Given the description of an element on the screen output the (x, y) to click on. 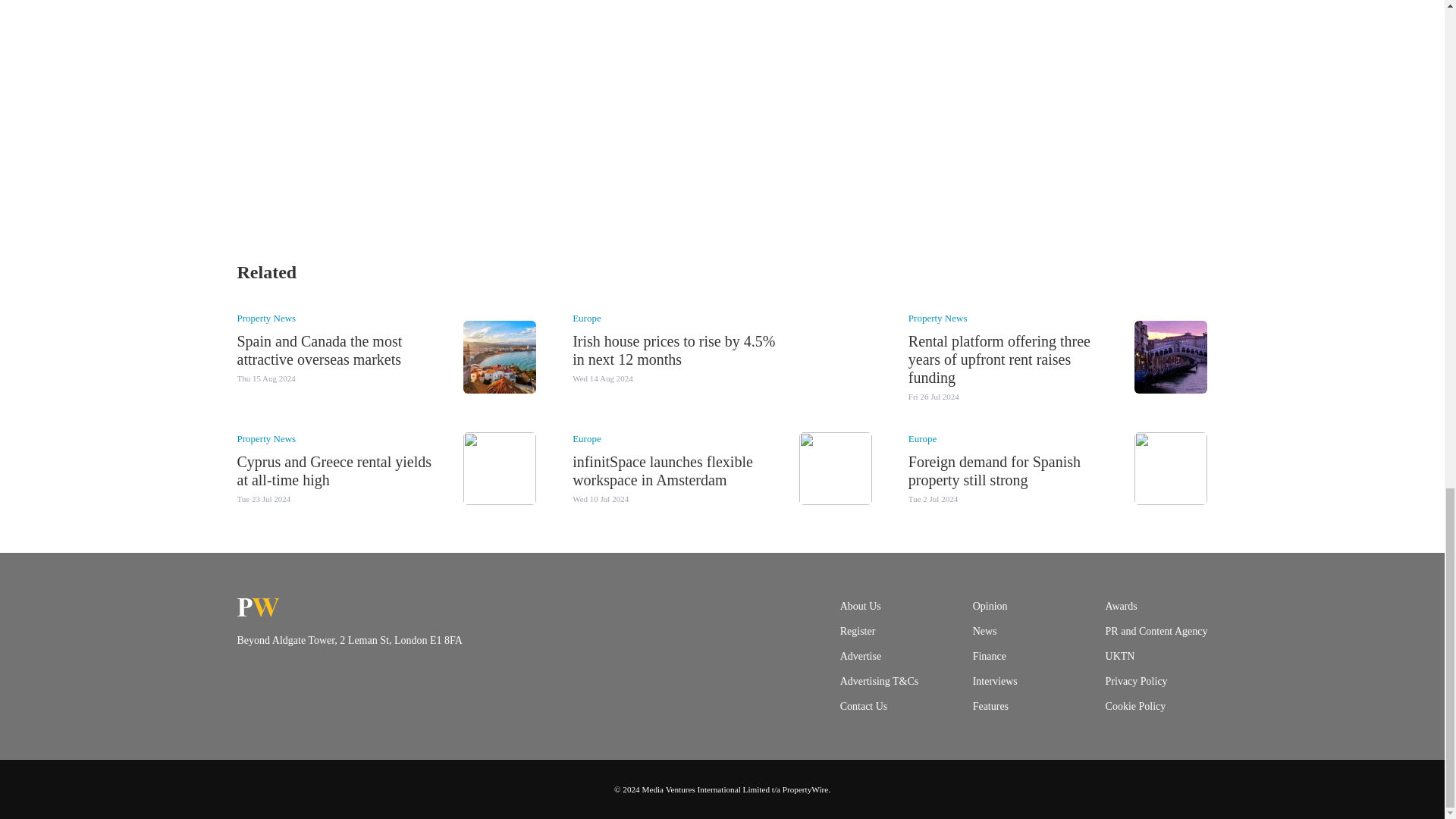
Property News (265, 317)
Property News (938, 317)
Spain and Canada the most attractive overseas markets (318, 349)
Europe (586, 317)
